Given the description of an element on the screen output the (x, y) to click on. 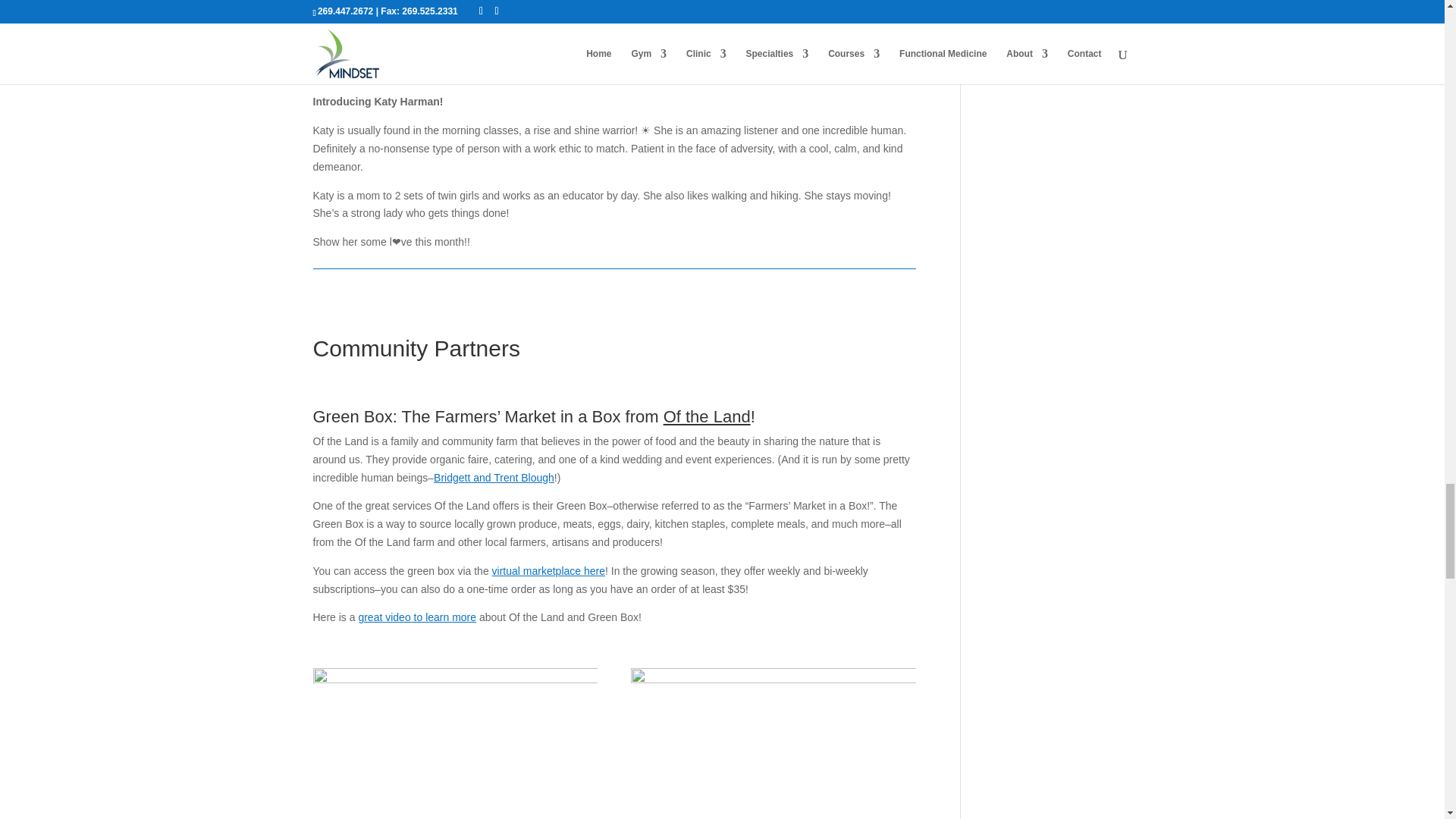
Katy-H (614, 38)
Eat-Your-Veggies (454, 743)
Eat-Your-Veggies-2 (772, 743)
